Given the description of an element on the screen output the (x, y) to click on. 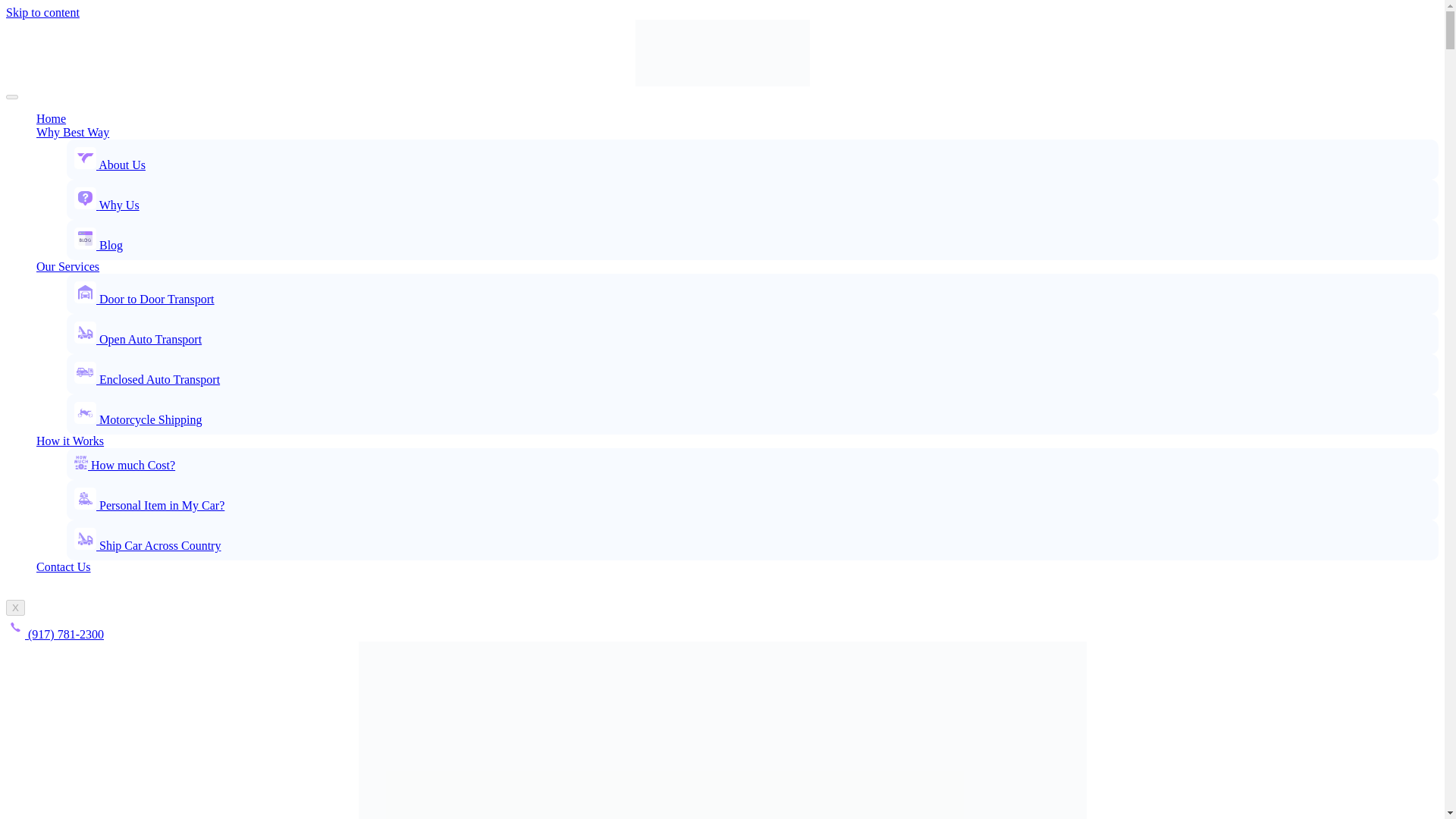
Skip to content (42, 11)
How much Cost? (124, 464)
Enclosed Auto Transport (146, 379)
Contact Us (63, 566)
Ship Car Across Country (147, 545)
Our Services (67, 266)
About Us (109, 164)
Open Auto Transport (138, 338)
Why Us (106, 205)
Motorcycle Shipping (138, 419)
Home (50, 118)
X (14, 607)
Door to Door Transport (144, 298)
How it Works (69, 440)
Why Best Way (72, 132)
